Given the description of an element on the screen output the (x, y) to click on. 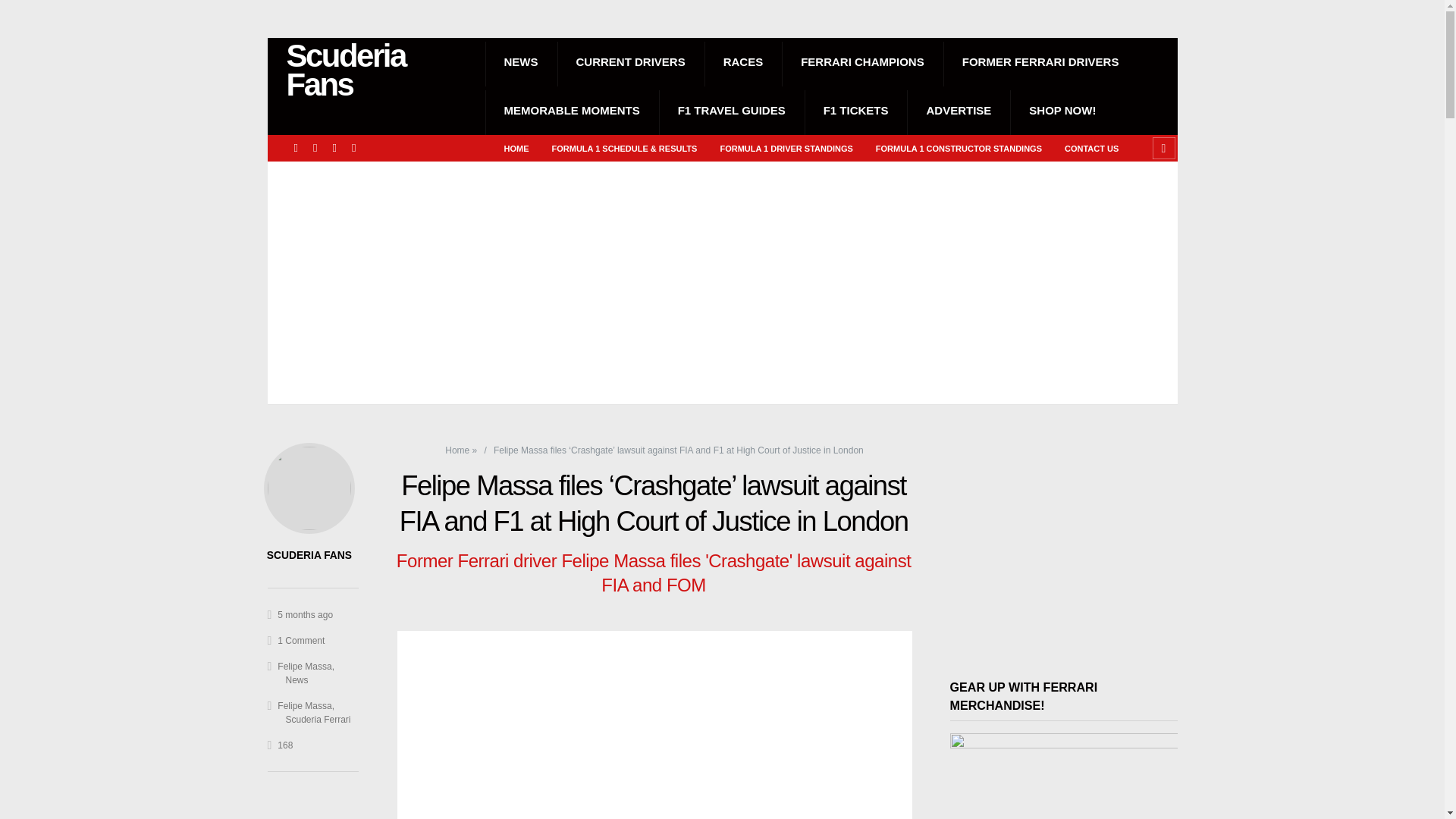
NEWS (520, 61)
RACES (743, 61)
FORMER FERRARI DRIVERS (1040, 61)
CURRENT DRIVERS (629, 61)
Scuderia Fans (377, 70)
FERRARI CHAMPIONS (862, 61)
